Given the description of an element on the screen output the (x, y) to click on. 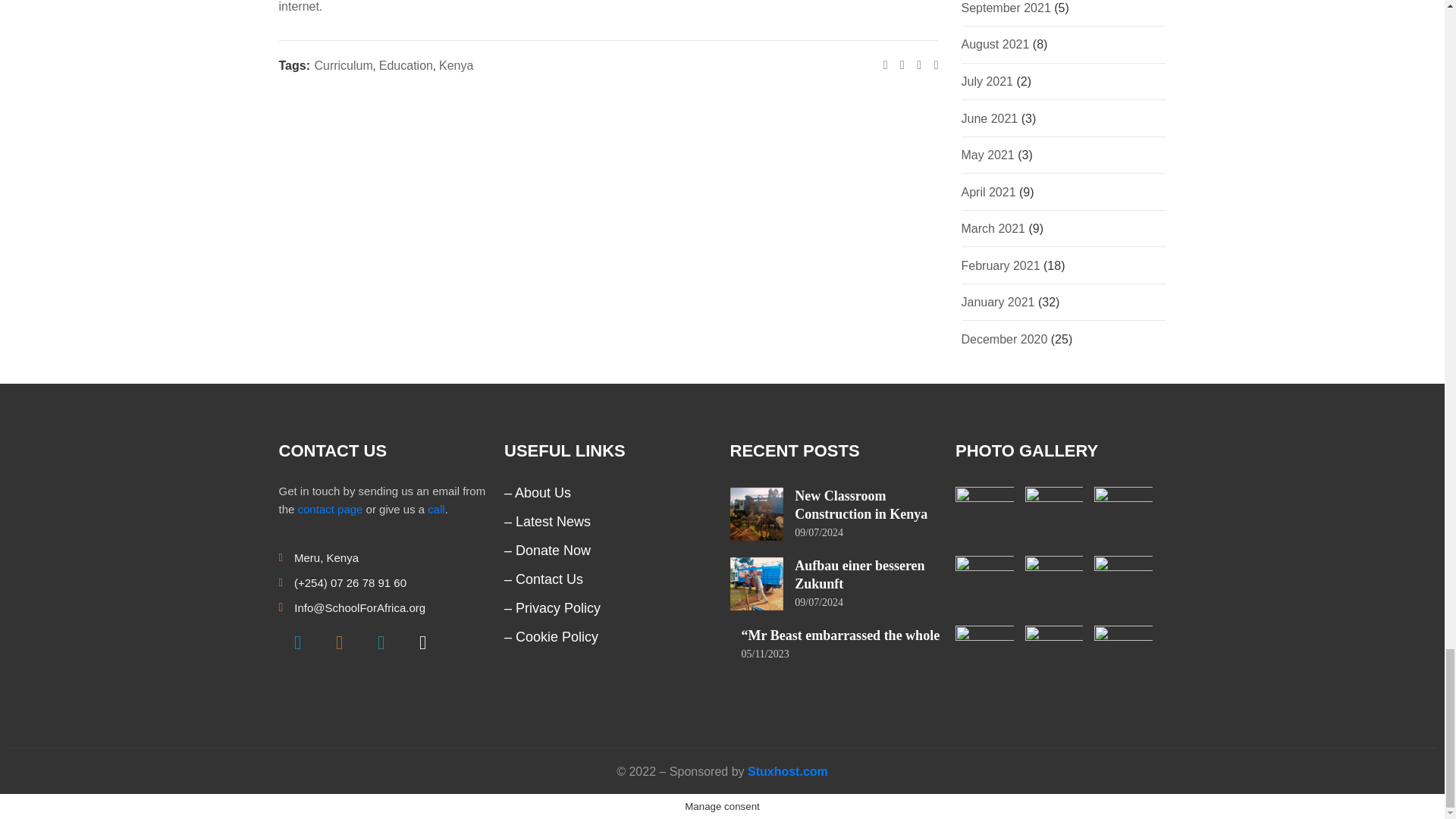
New Classroom Construction in Kenya (860, 504)
Kenya (456, 65)
Education (405, 65)
Curriculum (343, 65)
Aufbau einer besseren Zukunft (859, 574)
